Given the description of an element on the screen output the (x, y) to click on. 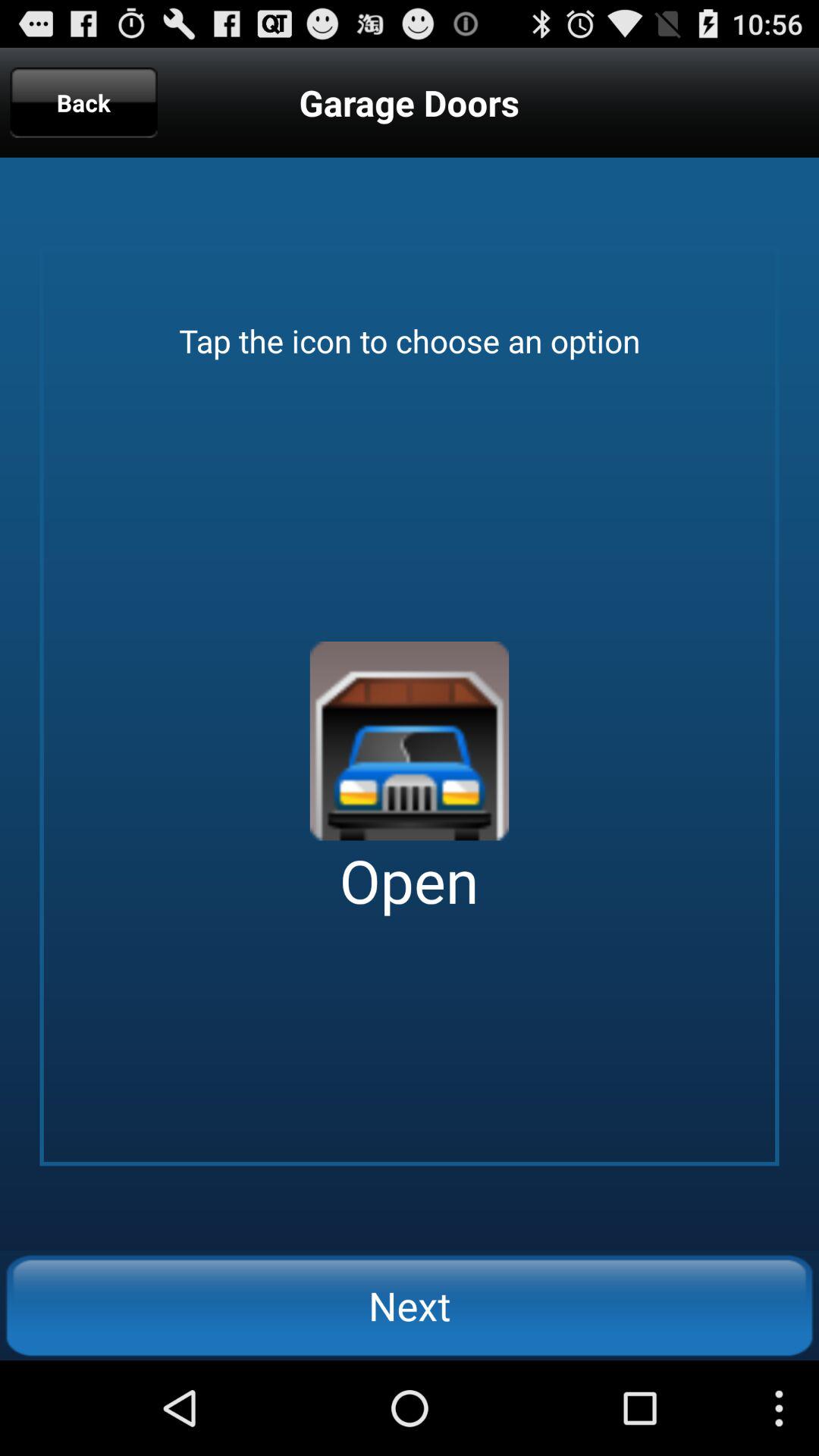
flip until back item (83, 102)
